Given the description of an element on the screen output the (x, y) to click on. 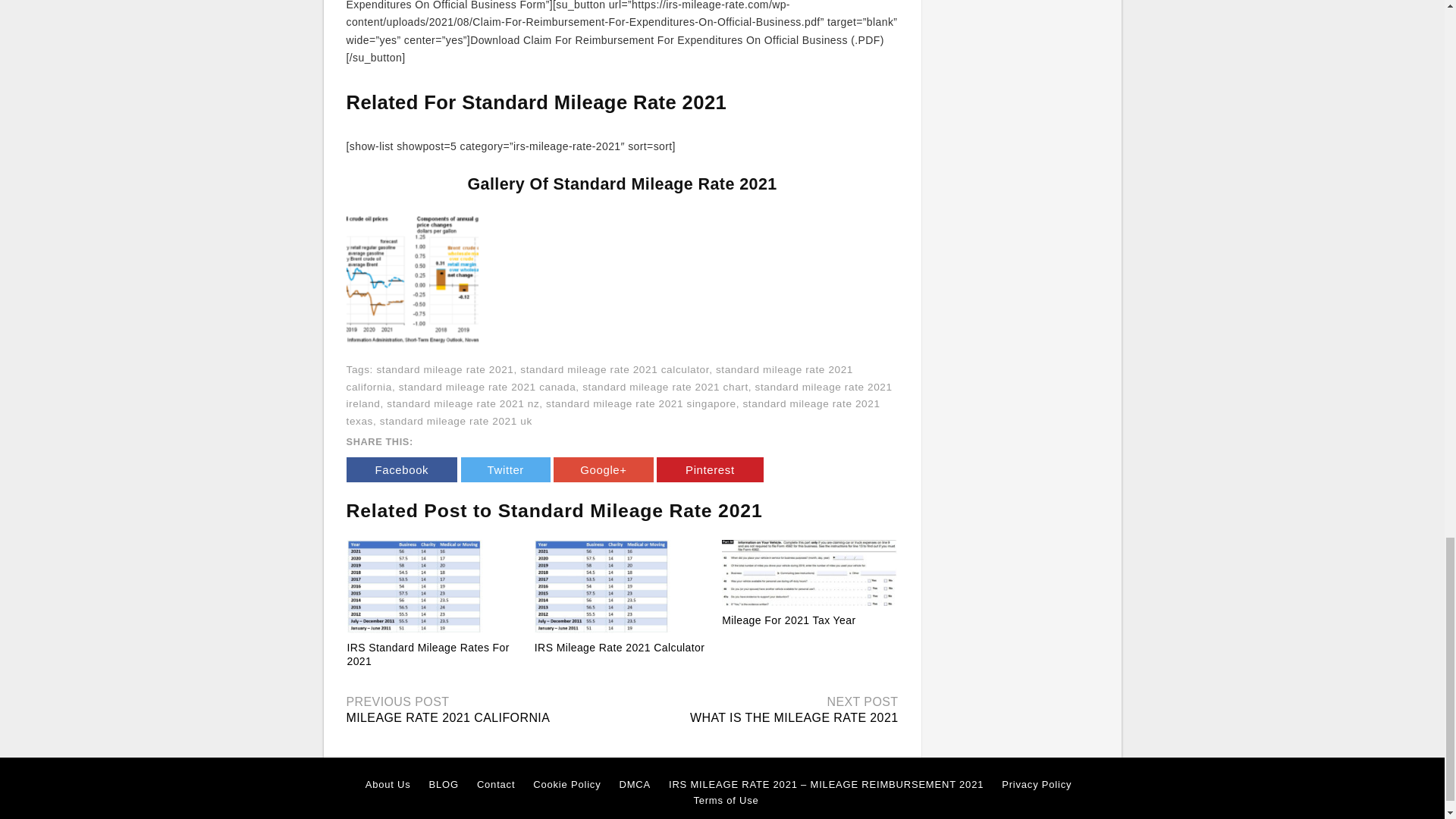
Pinterest (709, 469)
IRS Mileage Rate 2021 Calculator (622, 586)
standard mileage rate 2021 (444, 369)
standard mileage rate 2021 uk (456, 420)
standard mileage rate 2021 nz (462, 403)
Mileage For 2021 Tax Year (809, 572)
MILEAGE RATE 2021 CALIFORNIA (448, 717)
Twitter (505, 469)
Terms of Use (725, 800)
Mileage For 2021 Tax Year (789, 620)
standard mileage rate 2021 california (599, 378)
Contact (496, 784)
IRS Standard Mileage Rates For 2021 (428, 654)
Facebook (401, 469)
standard mileage rate 2021 singapore (641, 403)
